Given the description of an element on the screen output the (x, y) to click on. 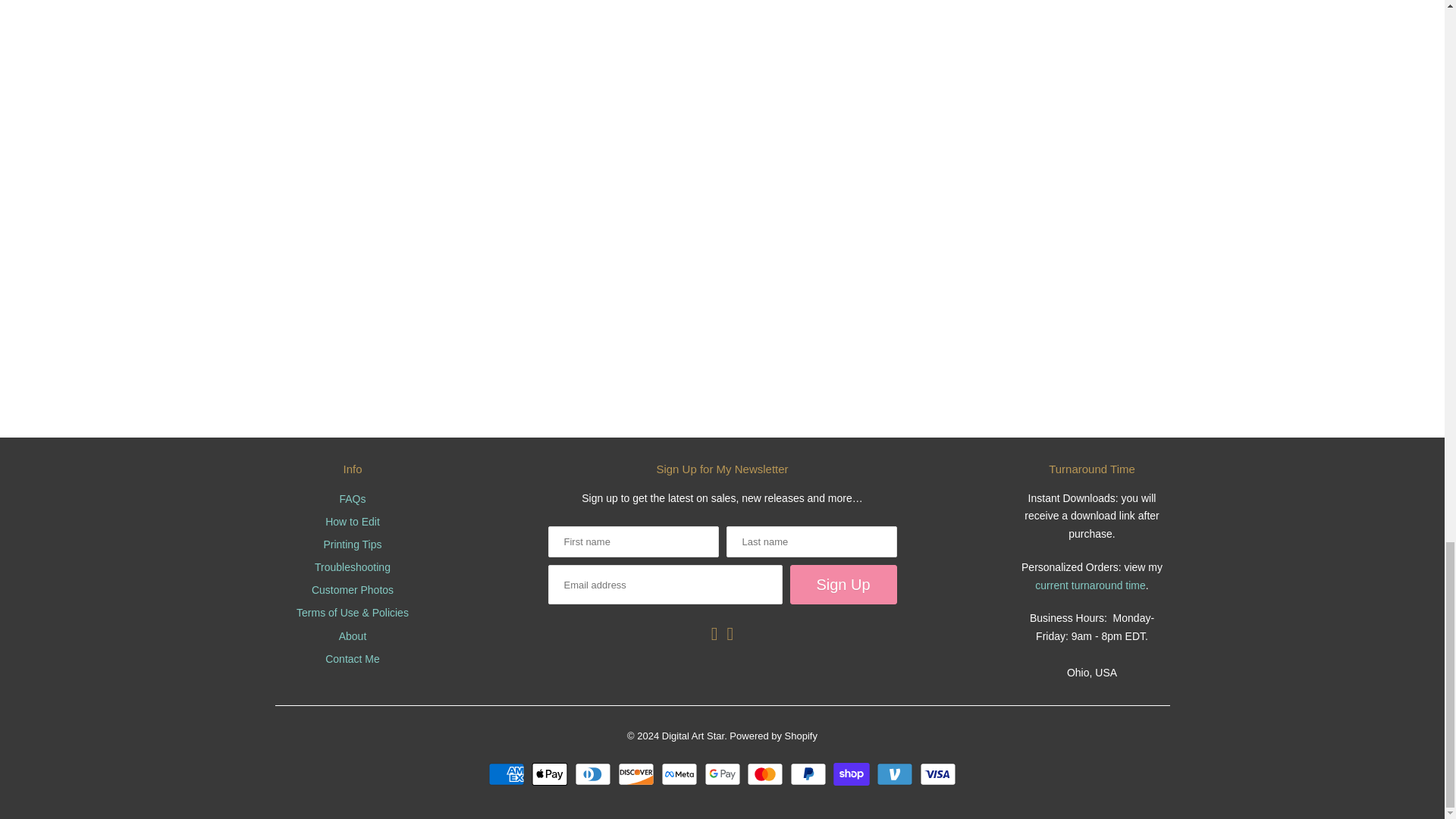
PayPal (809, 773)
Mastercard (766, 773)
Shop Pay (852, 773)
Google Pay (723, 773)
Diners Club (594, 773)
Turn Around Time (1090, 585)
Sign Up (843, 584)
Visa (938, 773)
Venmo (896, 773)
Apple Pay (551, 773)
